Given the description of an element on the screen output the (x, y) to click on. 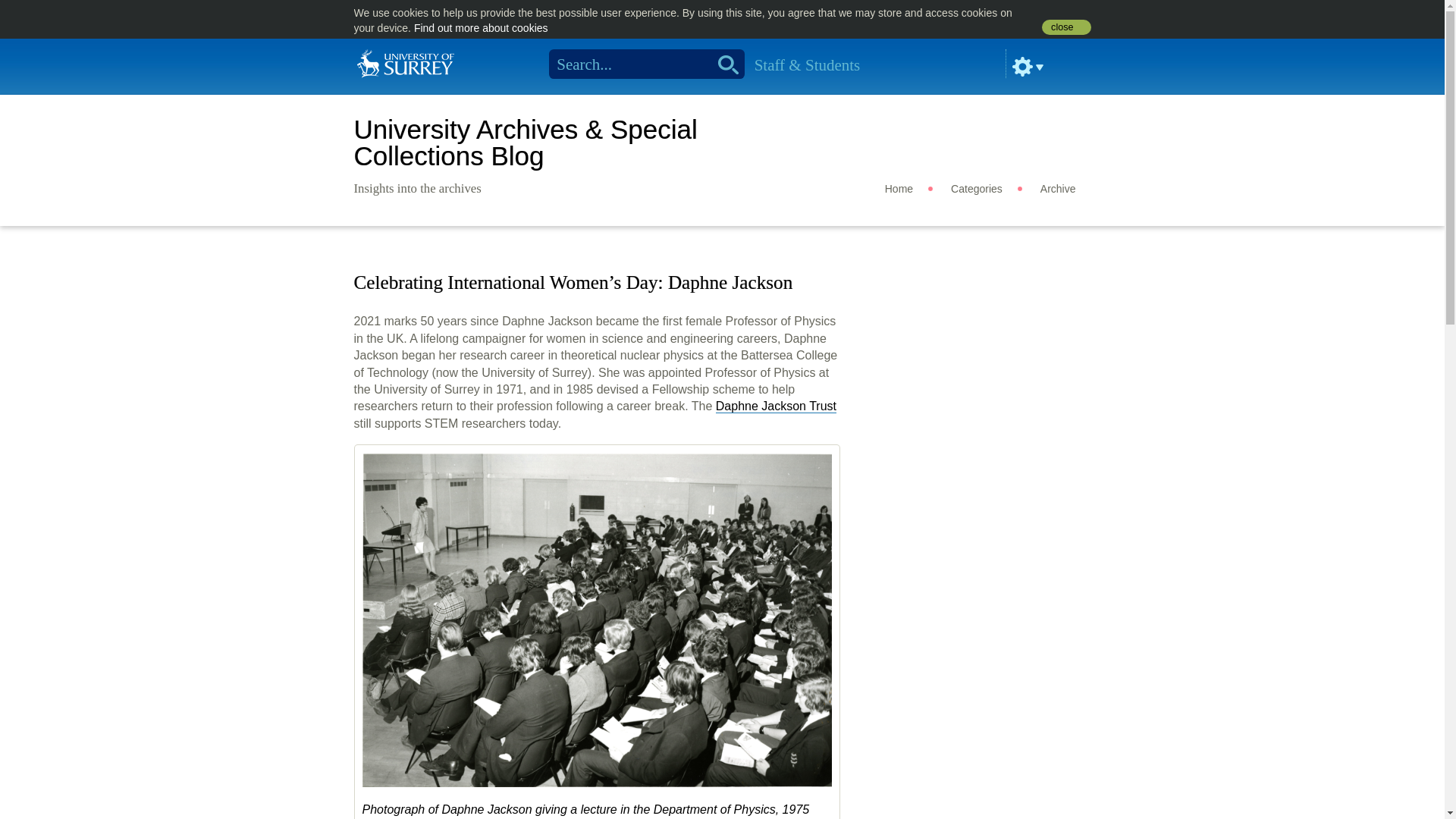
Archive (1058, 188)
Categories (976, 188)
Home (405, 62)
close (1066, 27)
Daphne Jackson Trust (775, 406)
Find out more about cookies (480, 28)
Home (898, 188)
Search (722, 64)
